Given the description of an element on the screen output the (x, y) to click on. 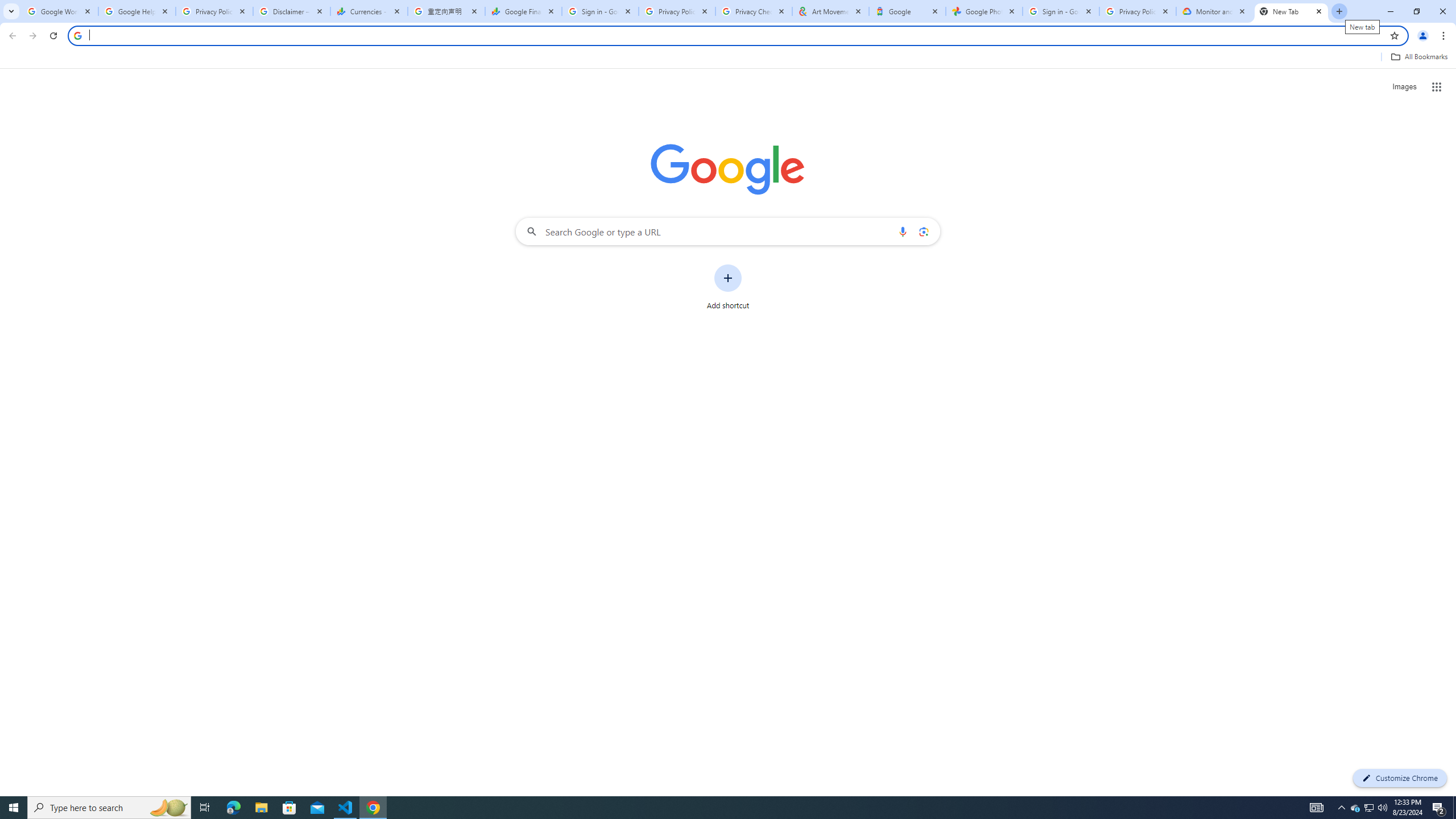
Currencies - Google Finance (368, 11)
Sign in - Google Accounts (1061, 11)
Google (906, 11)
Sign in - Google Accounts (599, 11)
New Tab (1291, 11)
